Given the description of an element on the screen output the (x, y) to click on. 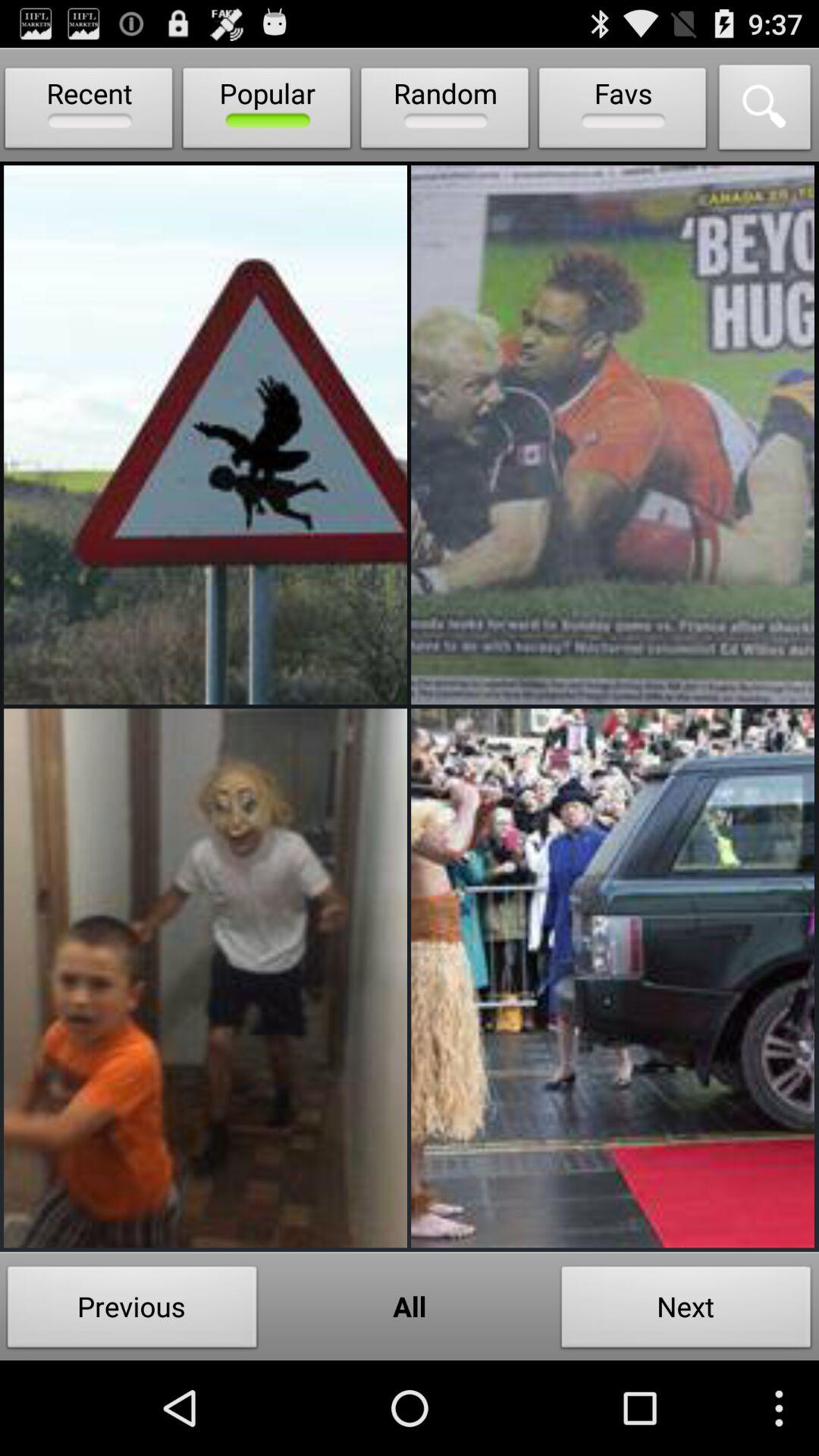
click popular (267, 111)
